Given the description of an element on the screen output the (x, y) to click on. 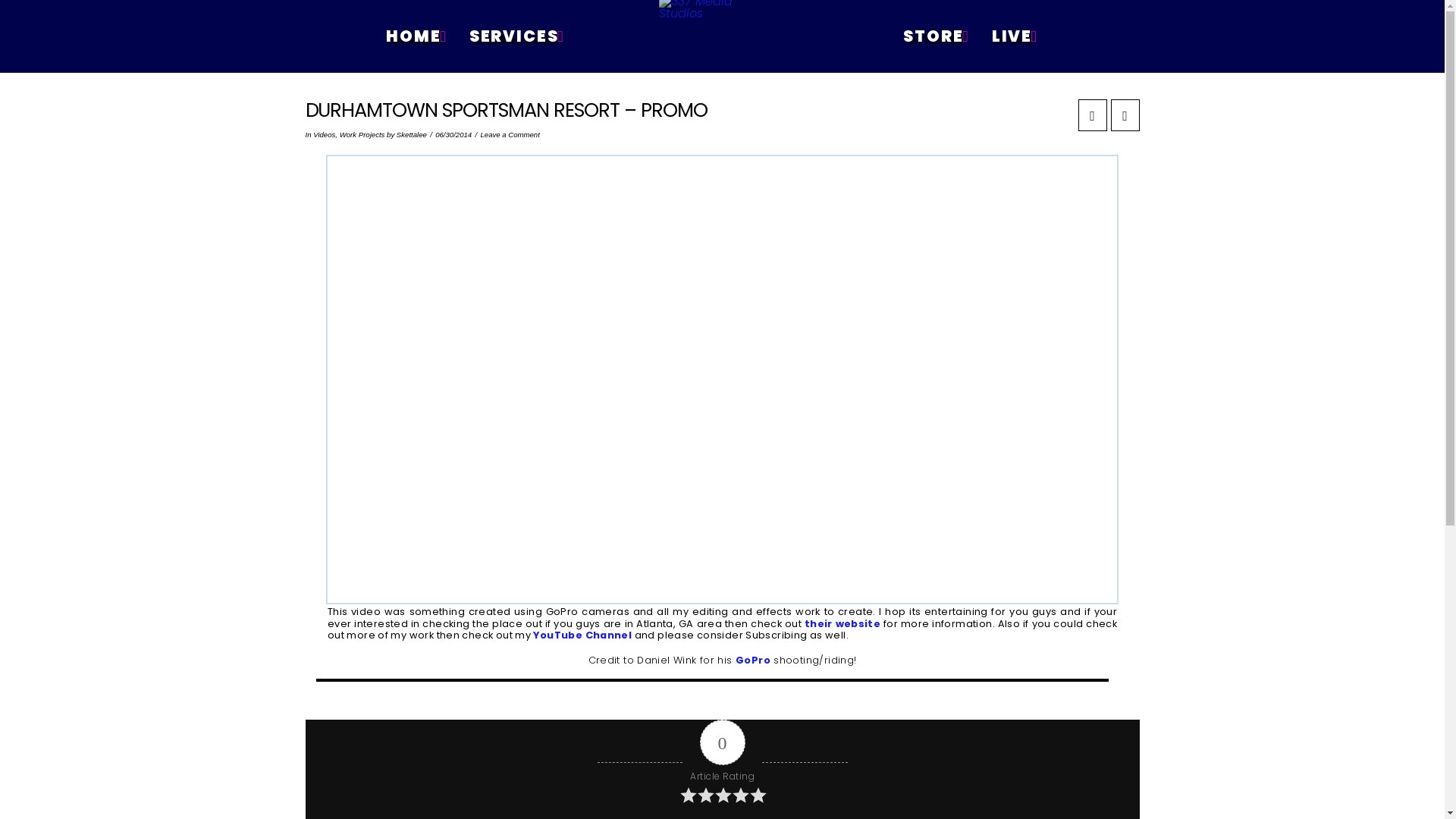
STORE Element type: text (935, 36)
Leave a Comment Element type: text (509, 134)
SERVICES Element type: text (515, 36)
Videos Element type: text (324, 134)
GoPro Element type: text (752, 659)
HOME Element type: text (415, 36)
their website Element type: text (842, 623)
Work Projects Element type: text (362, 134)
LIVE Element type: text (1013, 36)
YouTube Channel Element type: text (582, 634)
